Given the description of an element on the screen output the (x, y) to click on. 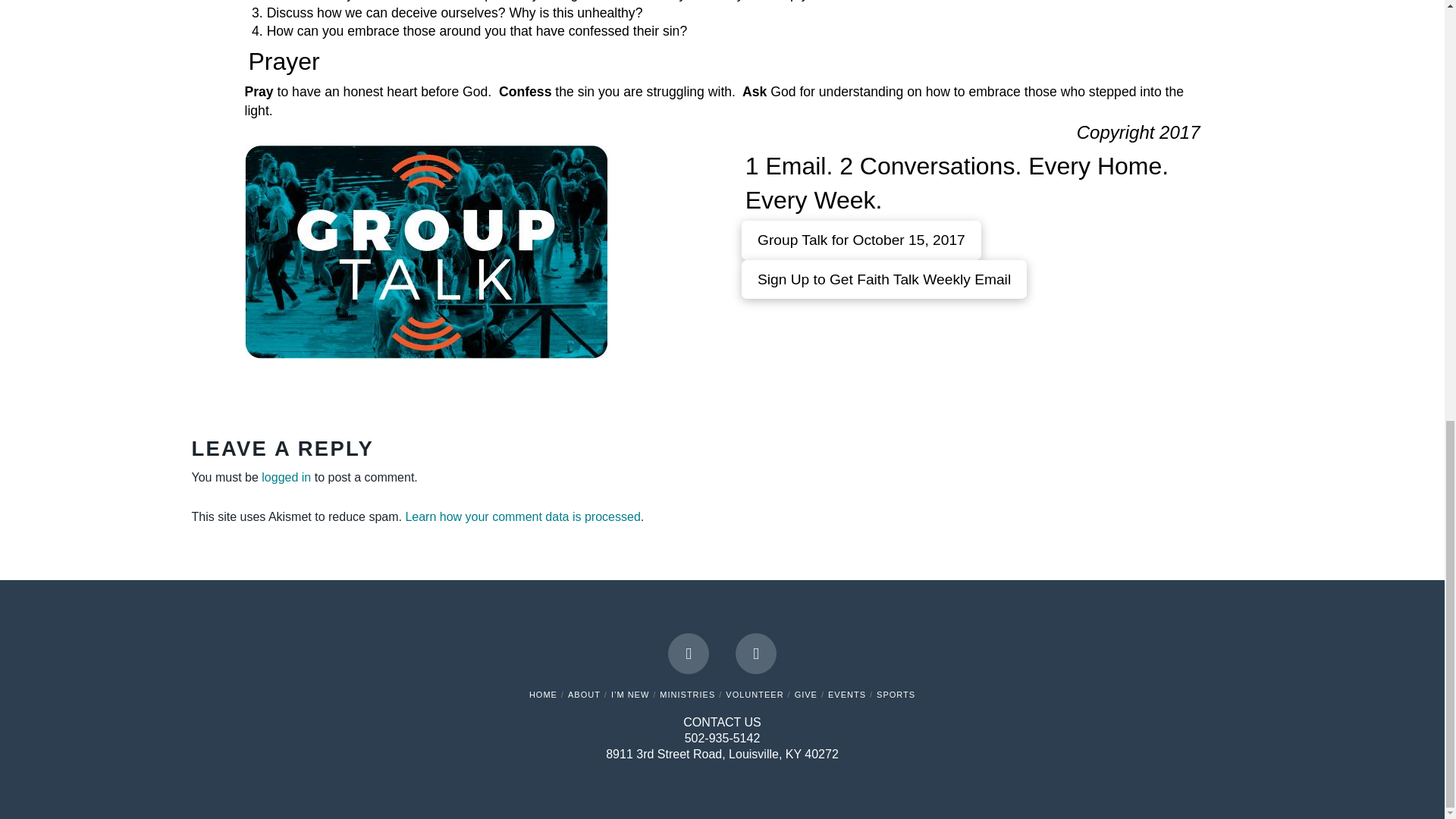
Facebook (688, 653)
Instagram (755, 653)
HOME (543, 694)
Learn how your comment data is processed (522, 516)
logged in (286, 477)
ABOUT (583, 694)
Sign Up to Get Faith Talk Weekly Email (884, 279)
Group Talk for October 15, 2017 (861, 239)
